Given the description of an element on the screen output the (x, y) to click on. 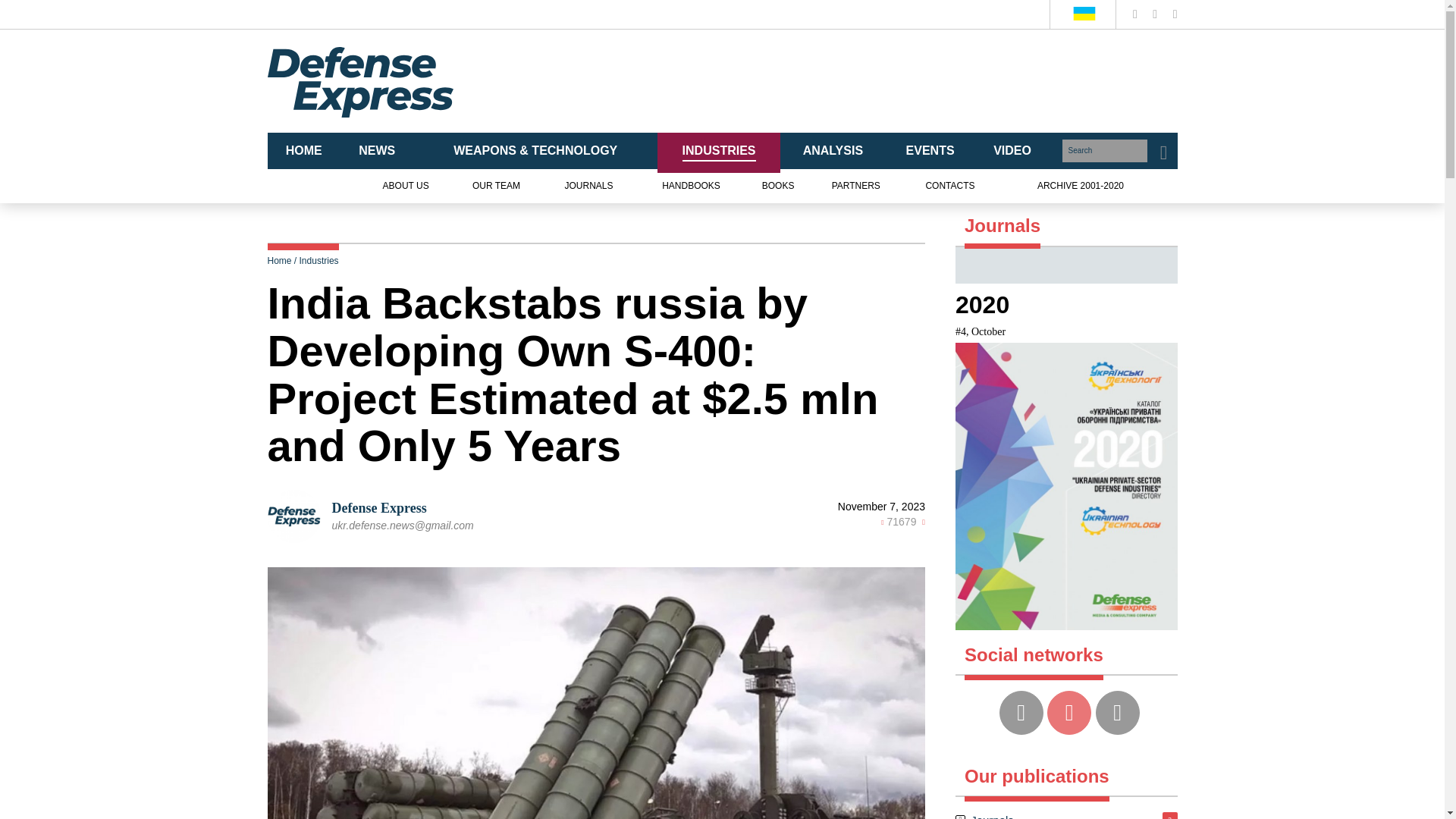
NEWS (376, 152)
HOME (302, 152)
ABOUT US (405, 186)
BOOKS (777, 186)
Home (278, 260)
CONTACTS (949, 186)
HANDBOOKS (691, 186)
EVENTS (930, 152)
PARTNERS (855, 186)
ARCHIVE 2001-2020 (1080, 186)
